Given the description of an element on the screen output the (x, y) to click on. 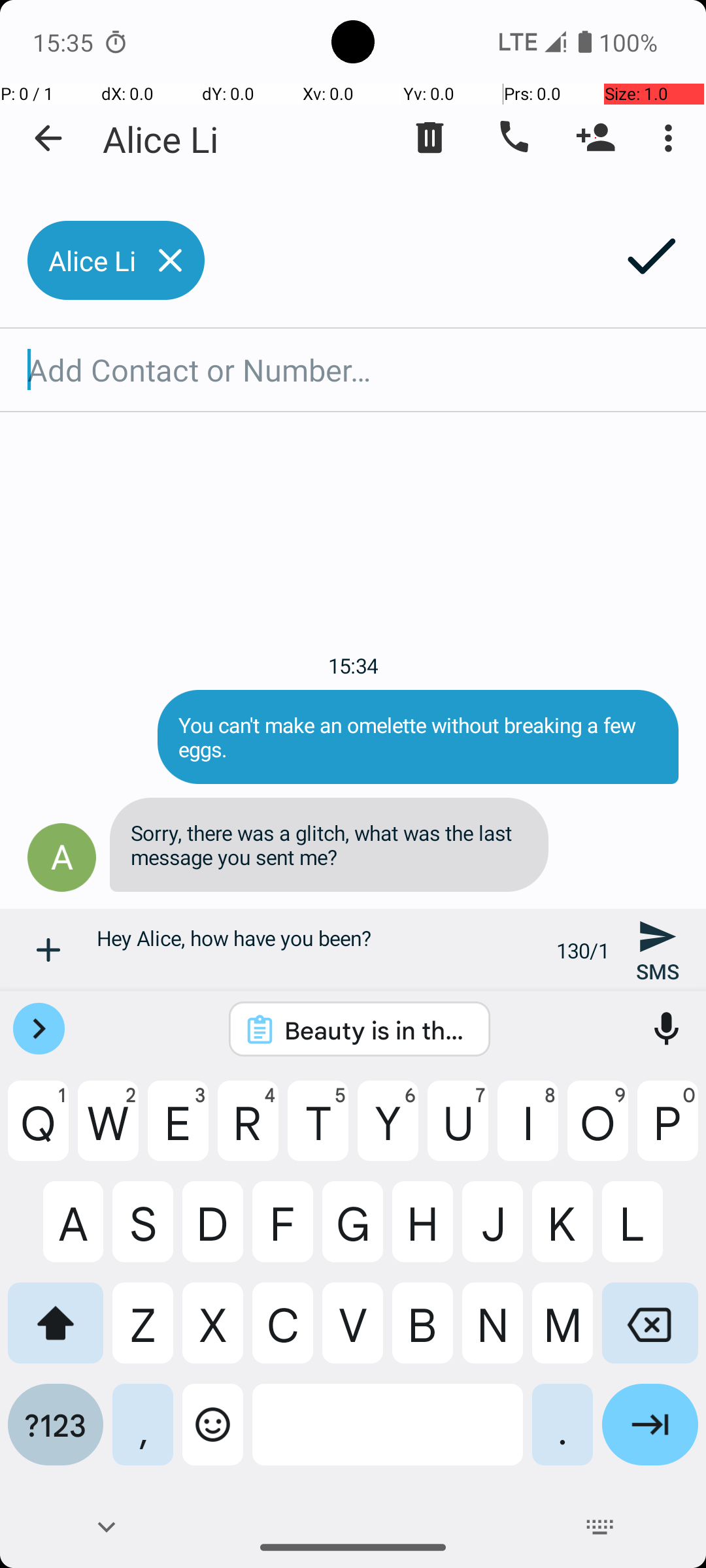
Alice Li Element type: android.widget.TextView (160, 138)
Hey Alice, how have you been?
 Element type: android.widget.EditText (318, 949)
130/1 Element type: android.widget.TextView (582, 950)
You can't make an omelette without breaking a few eggs. Element type: android.widget.TextView (417, 736)
